Given the description of an element on the screen output the (x, y) to click on. 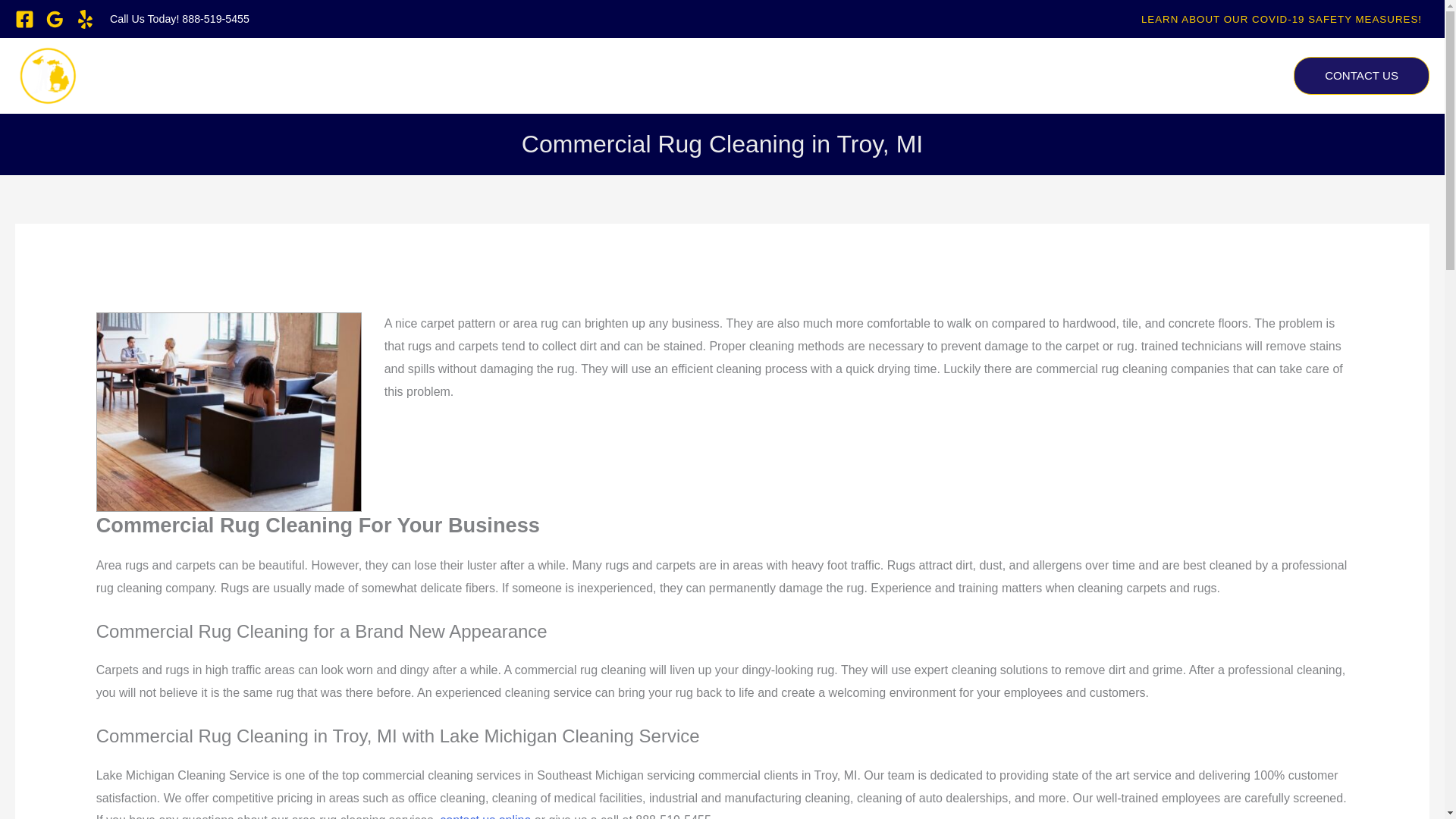
SERVICES (1024, 75)
CONTACT US (1361, 75)
Call Us Today! 888-519-5455 (179, 18)
GALLERY (1241, 75)
HOME (878, 75)
LEARN ABOUT OUR COVID-19 SAFETY MEASURES! (1281, 19)
contact us online (483, 816)
BLOG (1175, 75)
TRAINING (1109, 75)
ABOUT (943, 75)
